Given the description of an element on the screen output the (x, y) to click on. 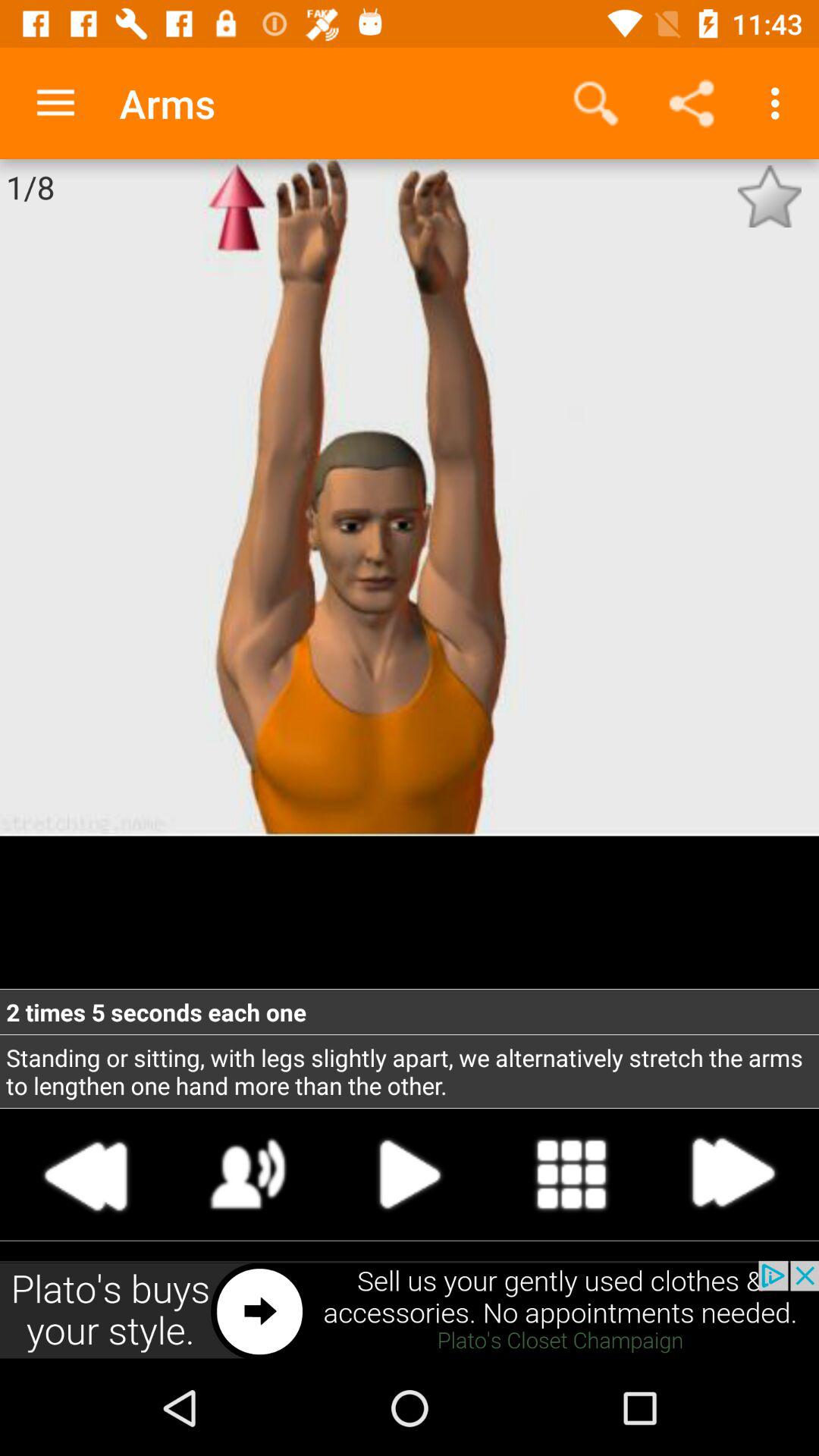
next (409, 1174)
